Given the description of an element on the screen output the (x, y) to click on. 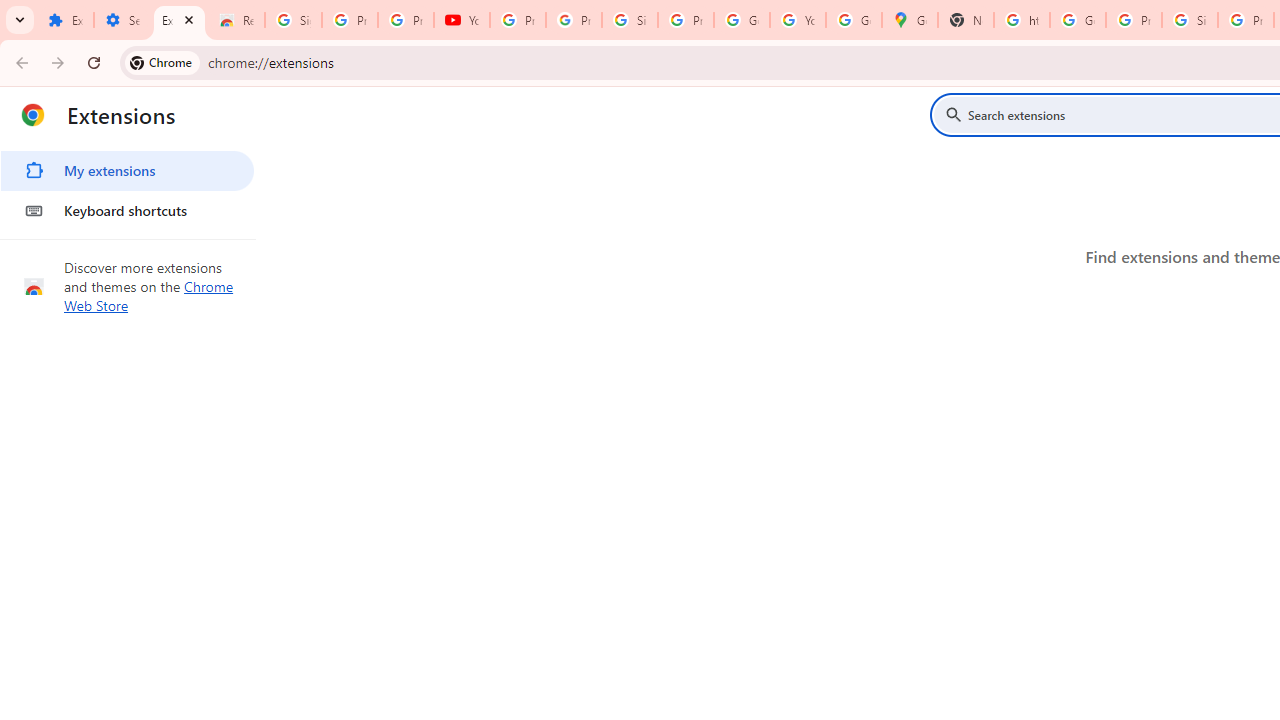
Google Account (742, 20)
Extensions (65, 20)
My extensions (127, 170)
